Given the description of an element on the screen output the (x, y) to click on. 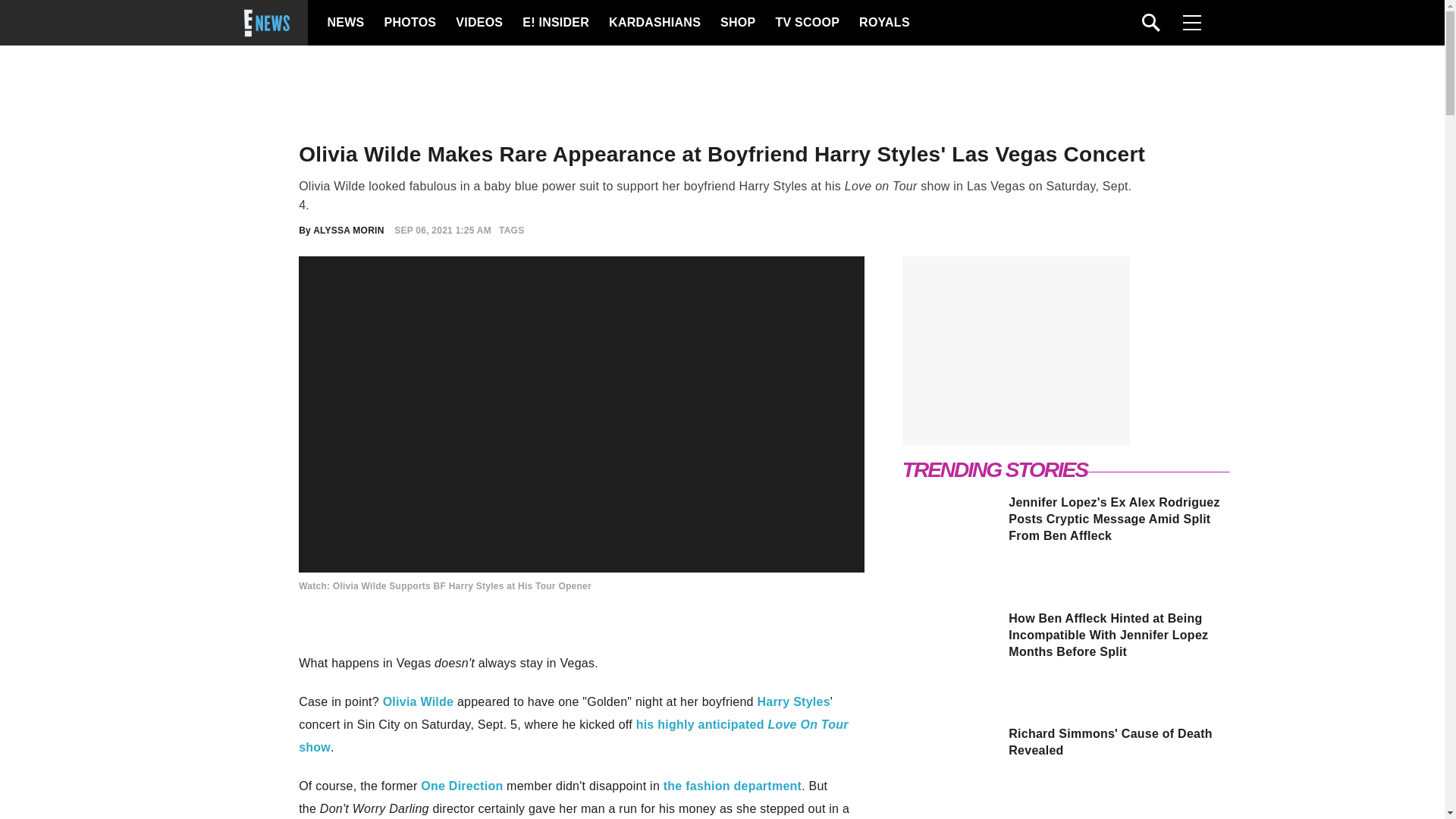
KARDASHIANS (653, 22)
Richard Simmons' Cause of Death Revealed (1066, 742)
Harry Styles (793, 701)
E! INSIDER (555, 22)
his highly anticipated Love On Tour show (573, 735)
PHOTOS (408, 22)
TV SCOOP (806, 22)
ROYALS (883, 22)
One Direction (461, 785)
